Given the description of an element on the screen output the (x, y) to click on. 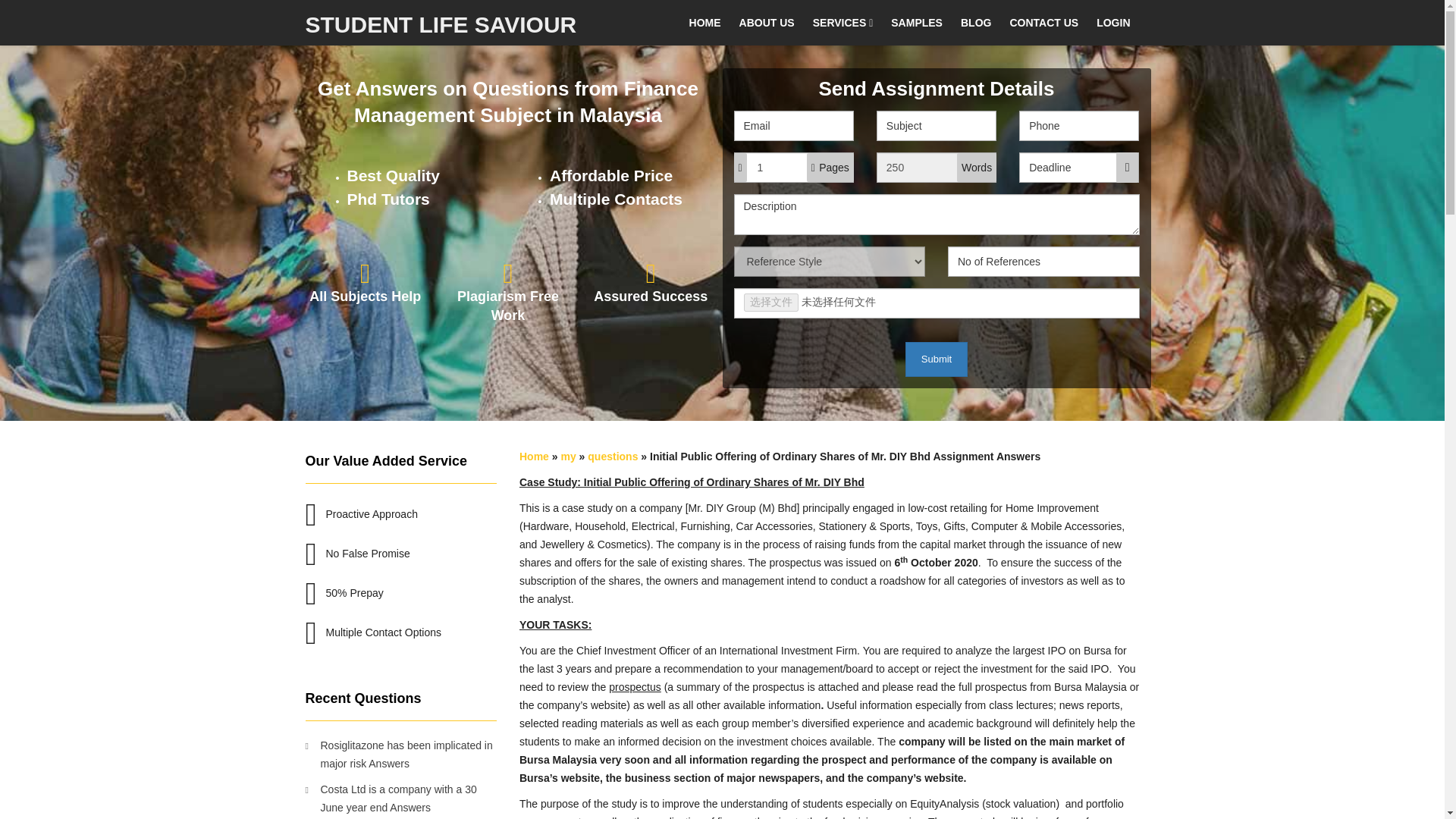
BLOG (976, 22)
1 (793, 167)
SERVICES (842, 22)
CONTACT US (1043, 22)
Home (533, 456)
HOME (704, 22)
Rosiglitazone has been implicated in major risk Answers (400, 754)
ABOUT US (766, 22)
SAMPLES (917, 22)
questions (612, 456)
Submit (936, 359)
Costa Ltd is a company with a 30 June year end Answers (400, 798)
my (567, 456)
250 (935, 167)
LOGIN (1112, 22)
